Given the description of an element on the screen output the (x, y) to click on. 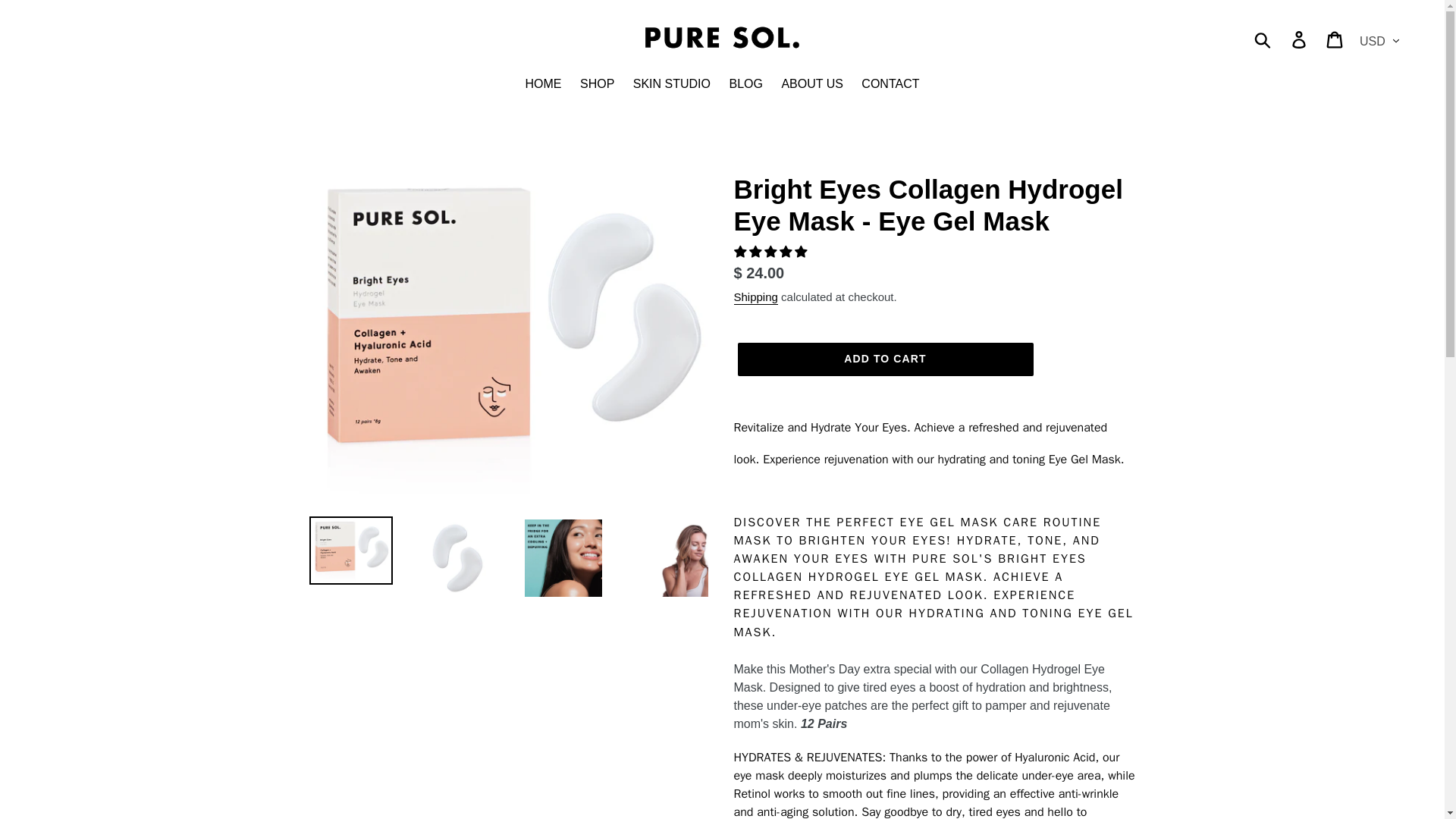
ADD TO CART (884, 359)
BLOG (745, 85)
Shipping (755, 297)
CONTACT (889, 85)
HOME (543, 85)
Log in (1299, 39)
SHOP (596, 85)
Cart (1335, 39)
Submit (1263, 39)
ABOUT US (811, 85)
SKIN STUDIO (671, 85)
